Given the description of an element on the screen output the (x, y) to click on. 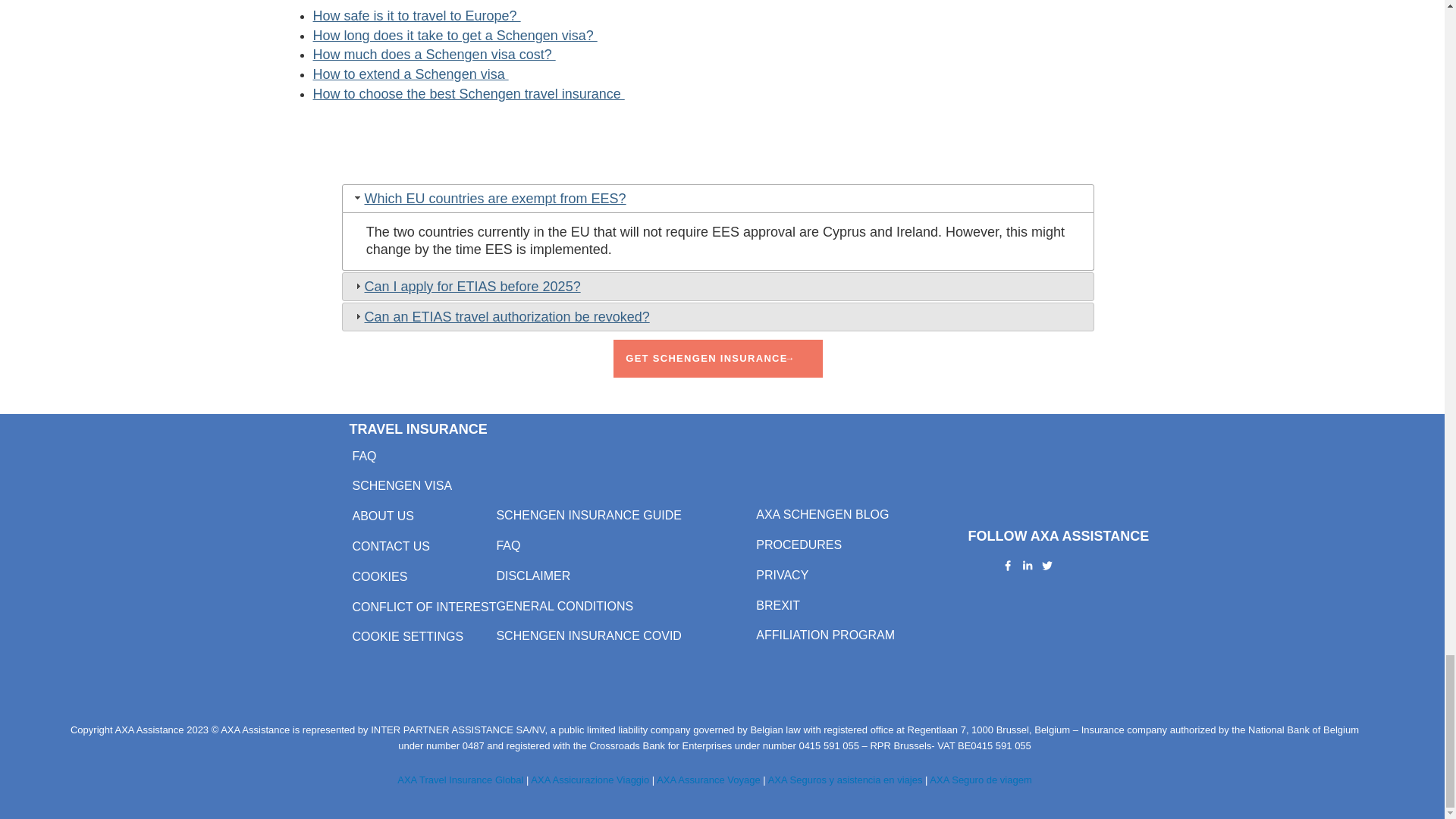
COOKIES (379, 576)
Frequently asked questions (363, 455)
SCHENGEN VISA (401, 485)
